Given the description of an element on the screen output the (x, y) to click on. 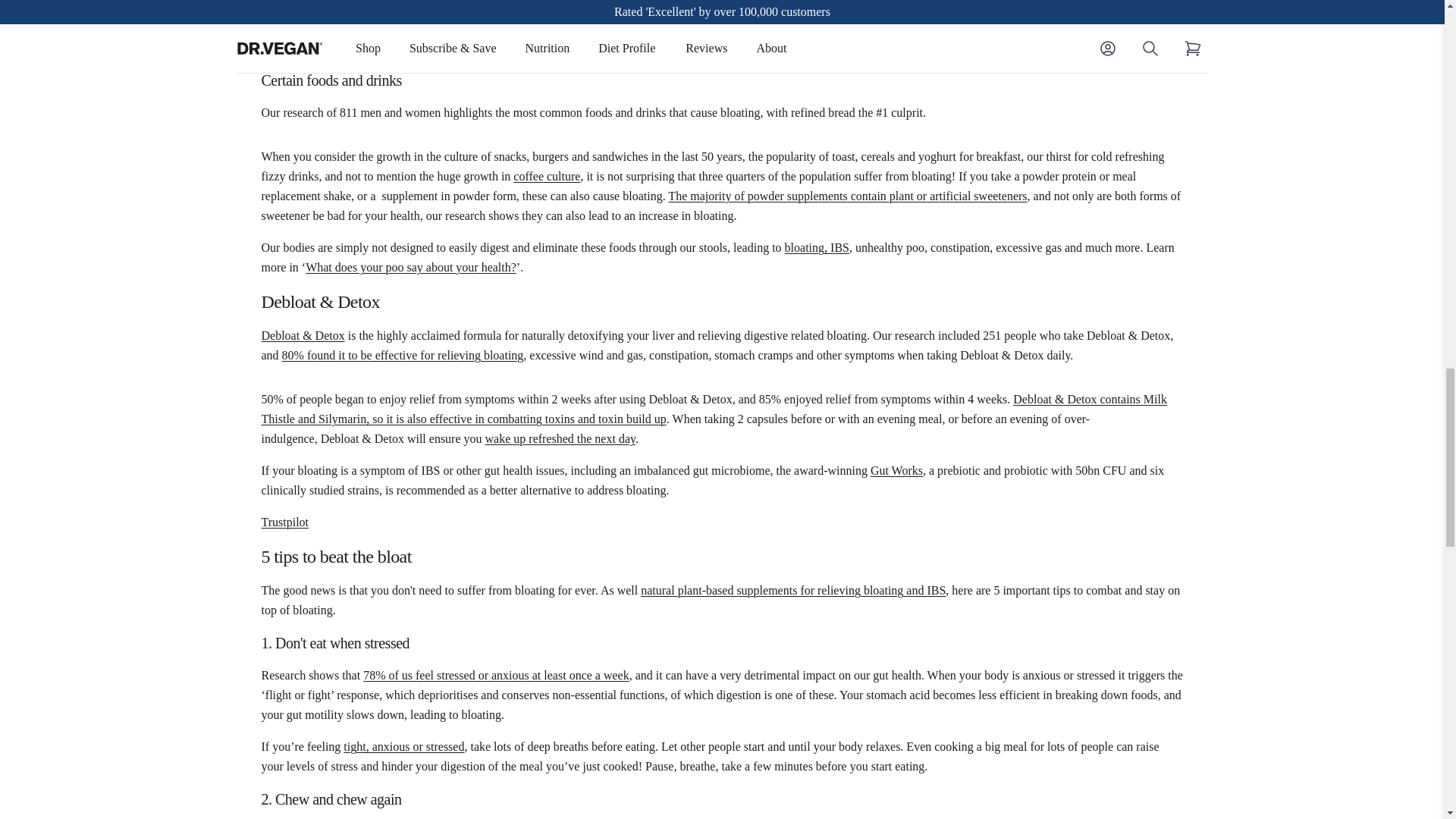
starting menopause (638, 1)
unusual symptoms of menopause (855, 1)
menofriend best menopause supplement (443, 27)
